Given the description of an element on the screen output the (x, y) to click on. 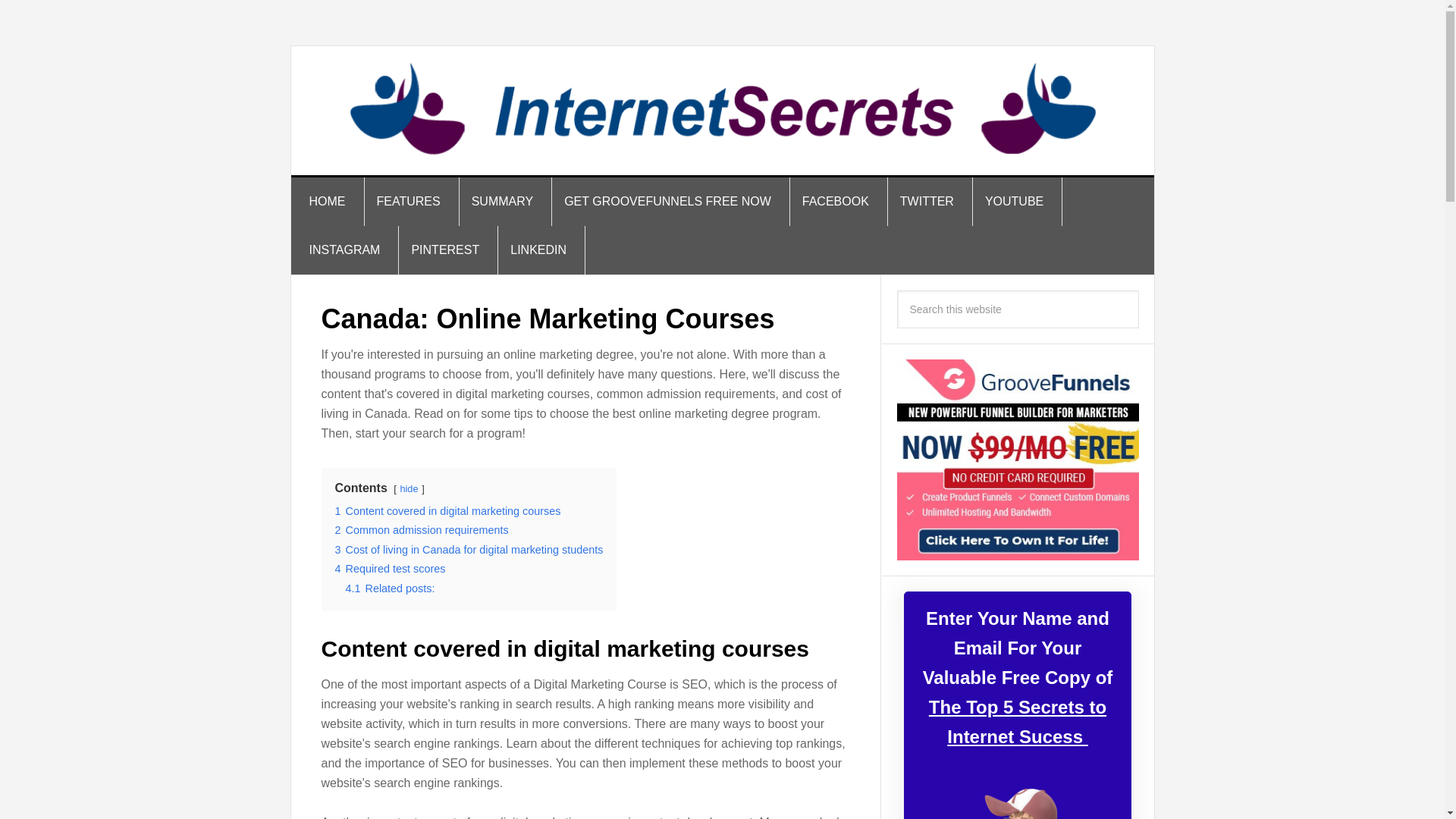
PINTEREST (445, 250)
4 Required test scores (389, 568)
3 Cost of living in Canada for digital marketing students (469, 549)
SUMMARY (502, 201)
FEATURES (408, 201)
HOME (328, 201)
YOUTUBE (1014, 201)
hide (407, 488)
4.1 Related posts: (390, 588)
INSTAGRAM (344, 250)
TWITTER (927, 201)
LINKEDIN (538, 250)
